Given the description of an element on the screen output the (x, y) to click on. 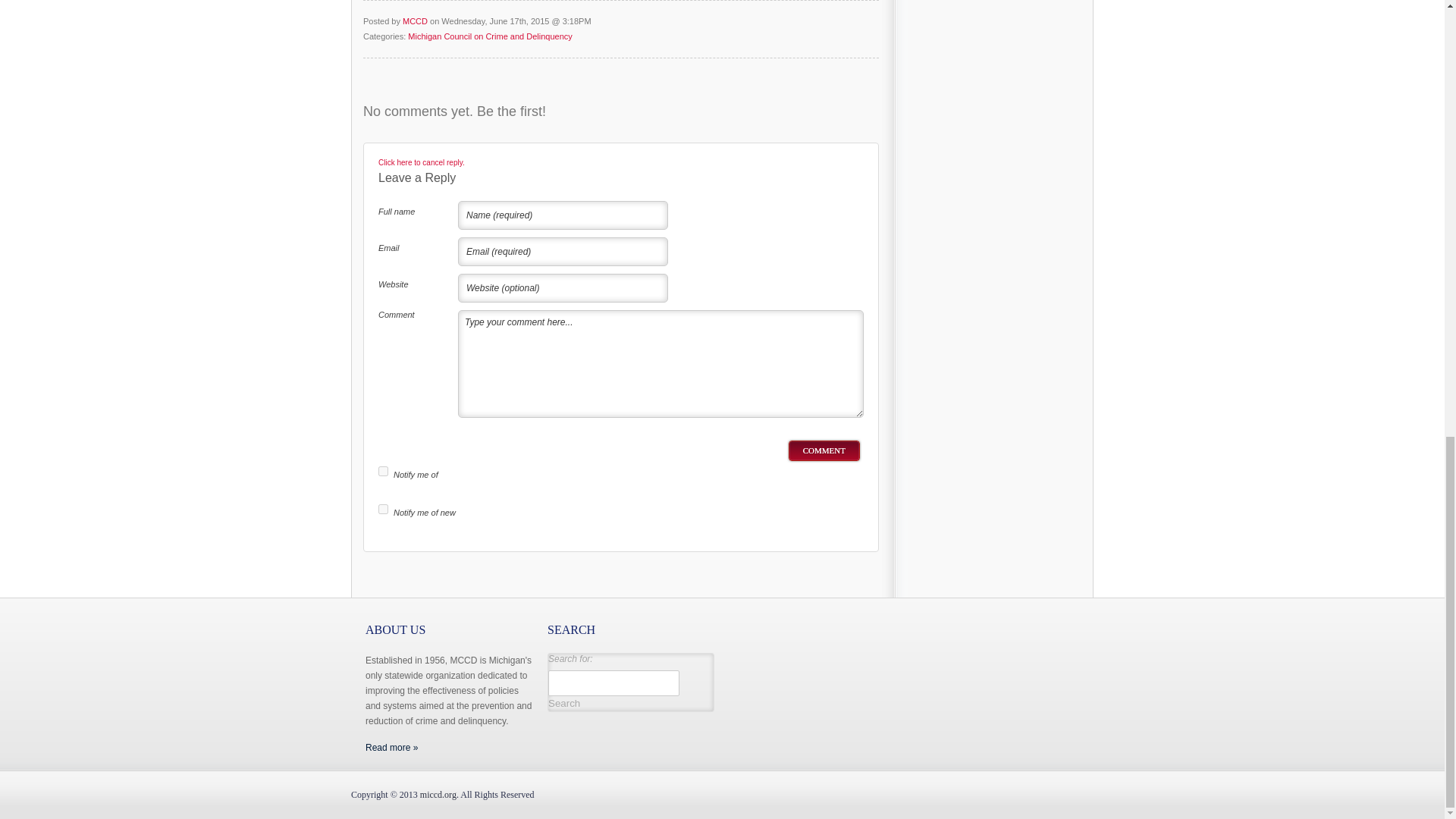
Comment (824, 450)
MCCD (438, 794)
subscribe (383, 470)
Search (563, 703)
subscribe (383, 509)
Posts by MCCD (415, 20)
